Given the description of an element on the screen output the (x, y) to click on. 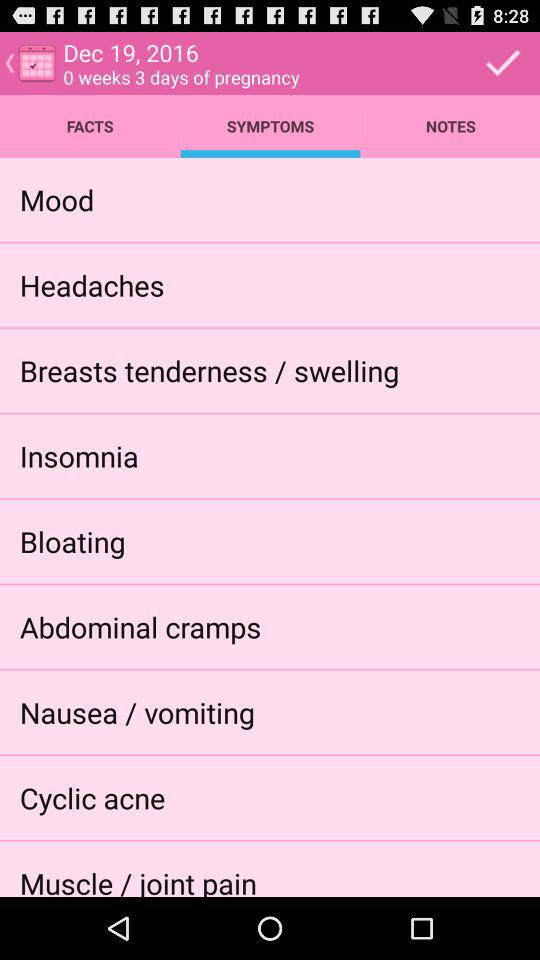
click muscle / joint pain app (137, 879)
